Given the description of an element on the screen output the (x, y) to click on. 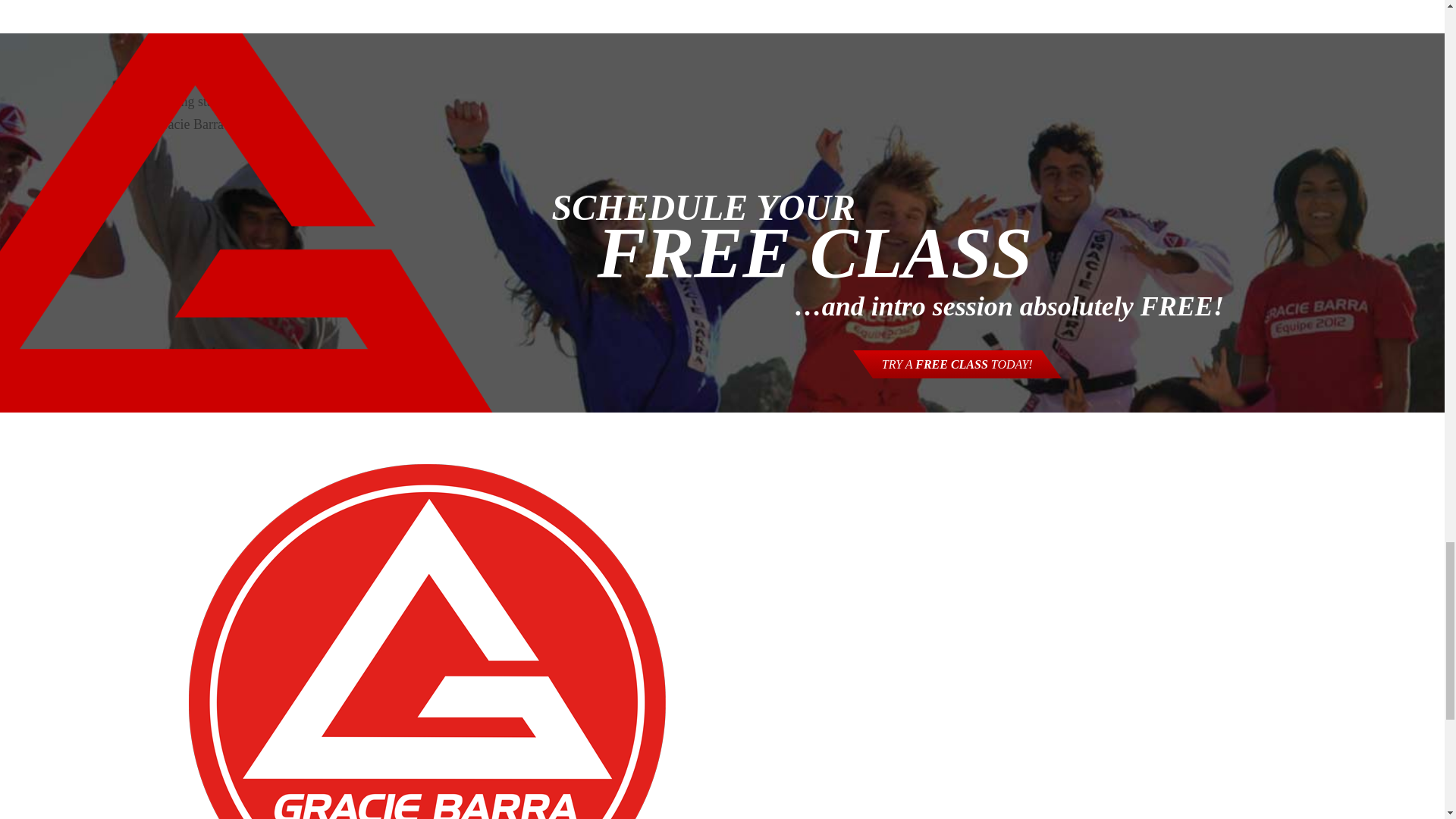
TRY A FREE CLASS TODAY! (957, 364)
